Given the description of an element on the screen output the (x, y) to click on. 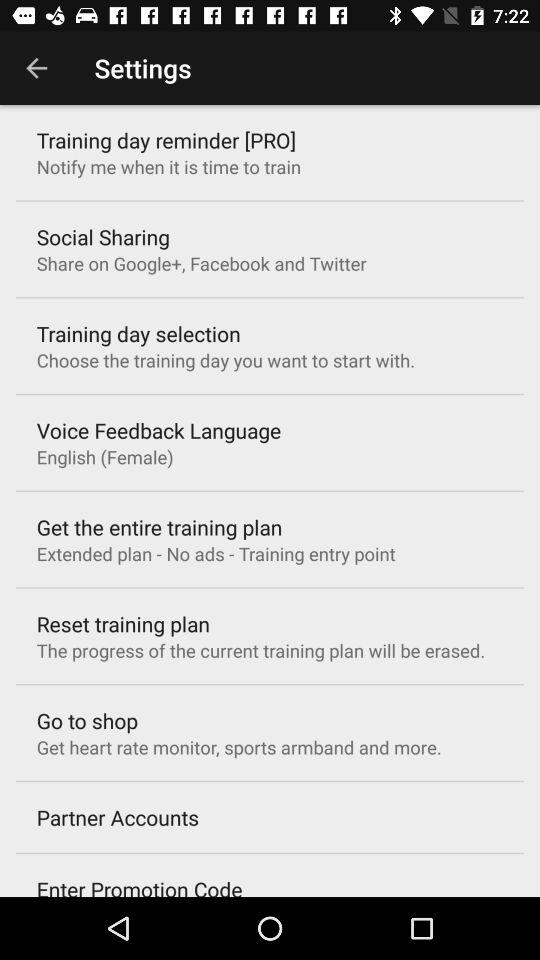
press the icon above the partner accounts icon (238, 747)
